Given the description of an element on the screen output the (x, y) to click on. 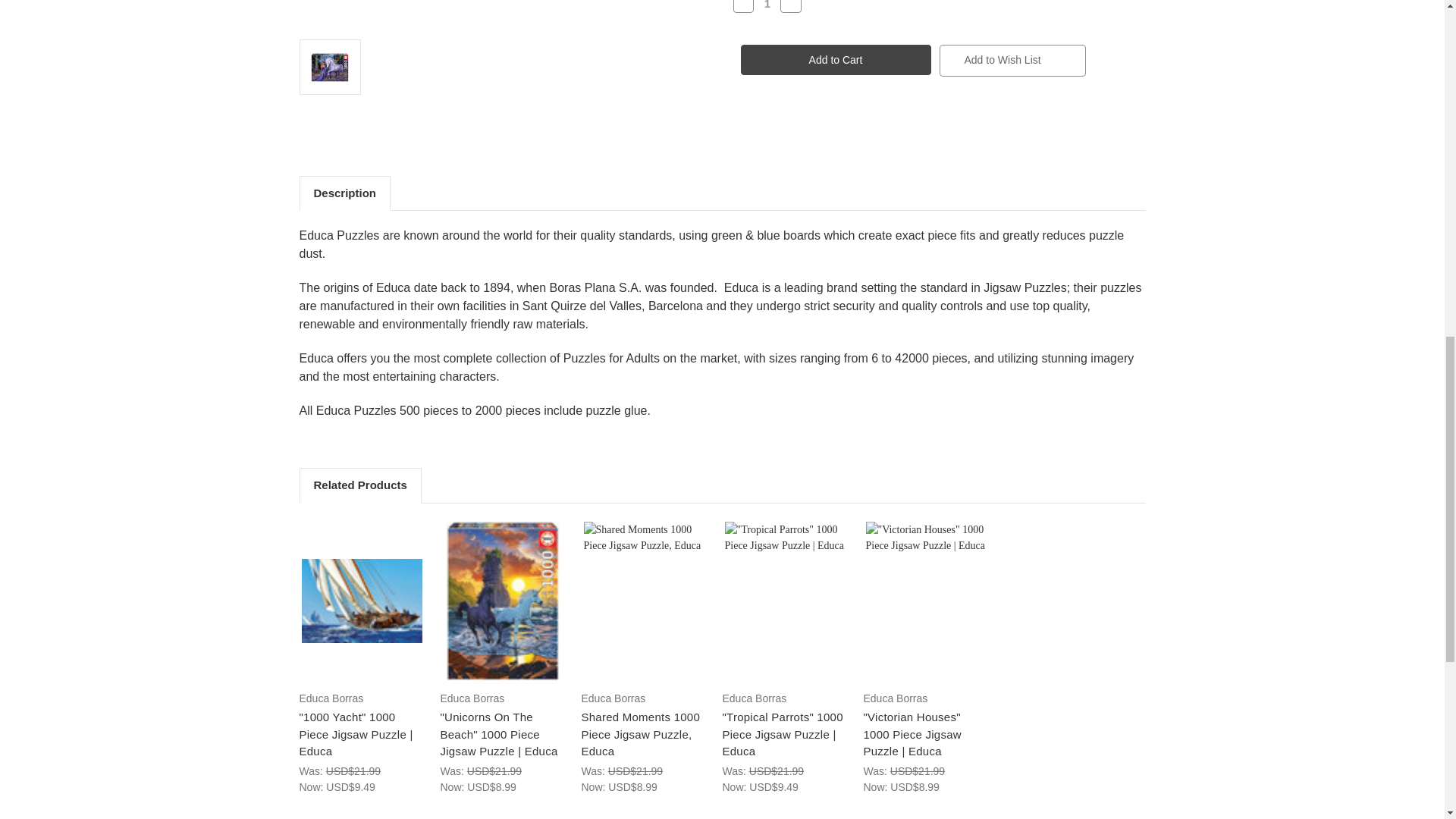
Print (793, 136)
Shared Moments 1000 Piece Jigsaw Puzzle, Educa (643, 600)
1 (767, 4)
Pinterest (845, 136)
Add to Cart (834, 60)
Email (766, 136)
Twitter (819, 136)
Facebook (740, 136)
